Given the description of an element on the screen output the (x, y) to click on. 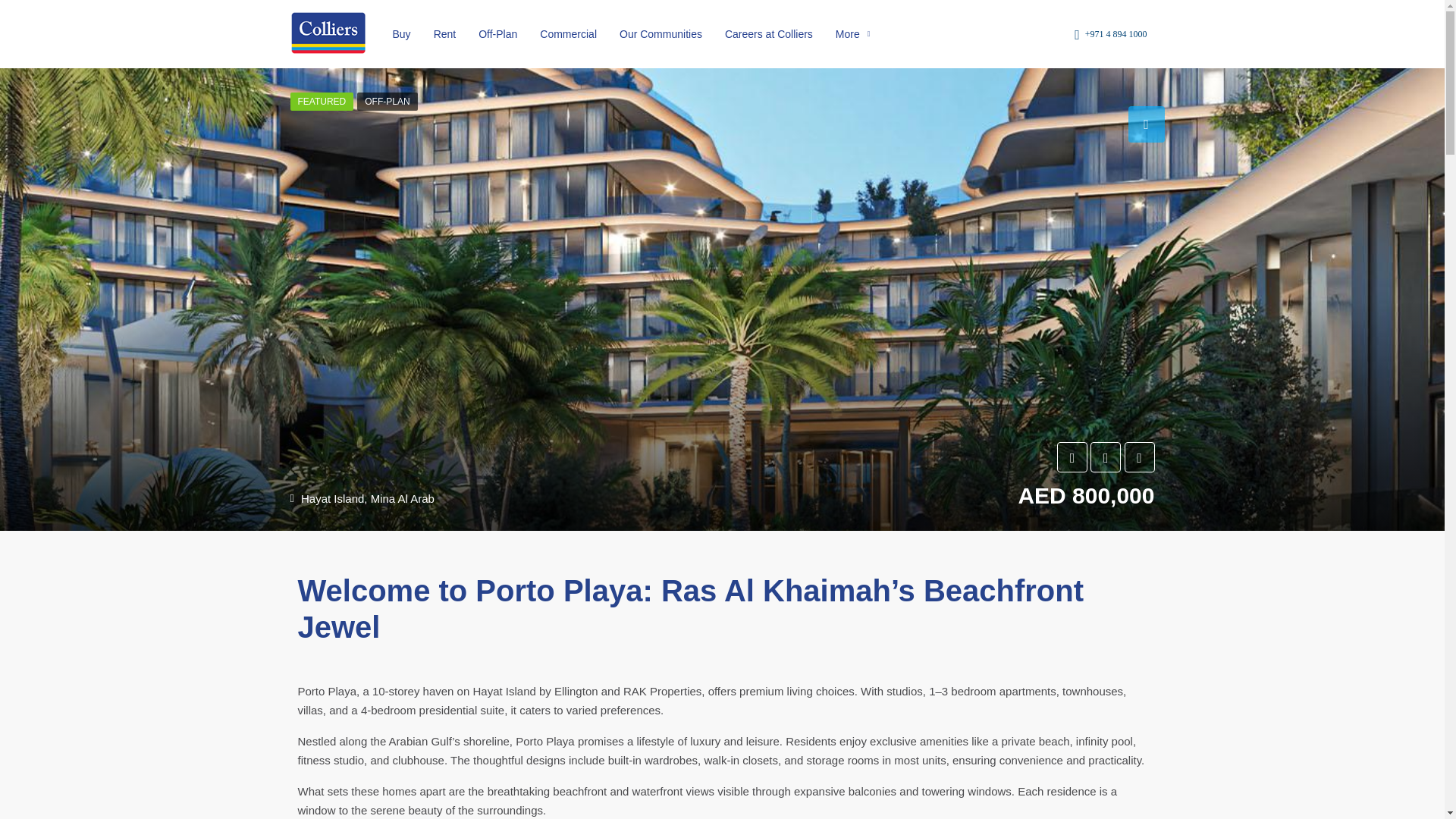
Our Communities (660, 33)
Off-Plan (497, 33)
Careers at Colliers (768, 33)
OFF-PLAN (386, 101)
Commercial (568, 33)
